Given the description of an element on the screen output the (x, y) to click on. 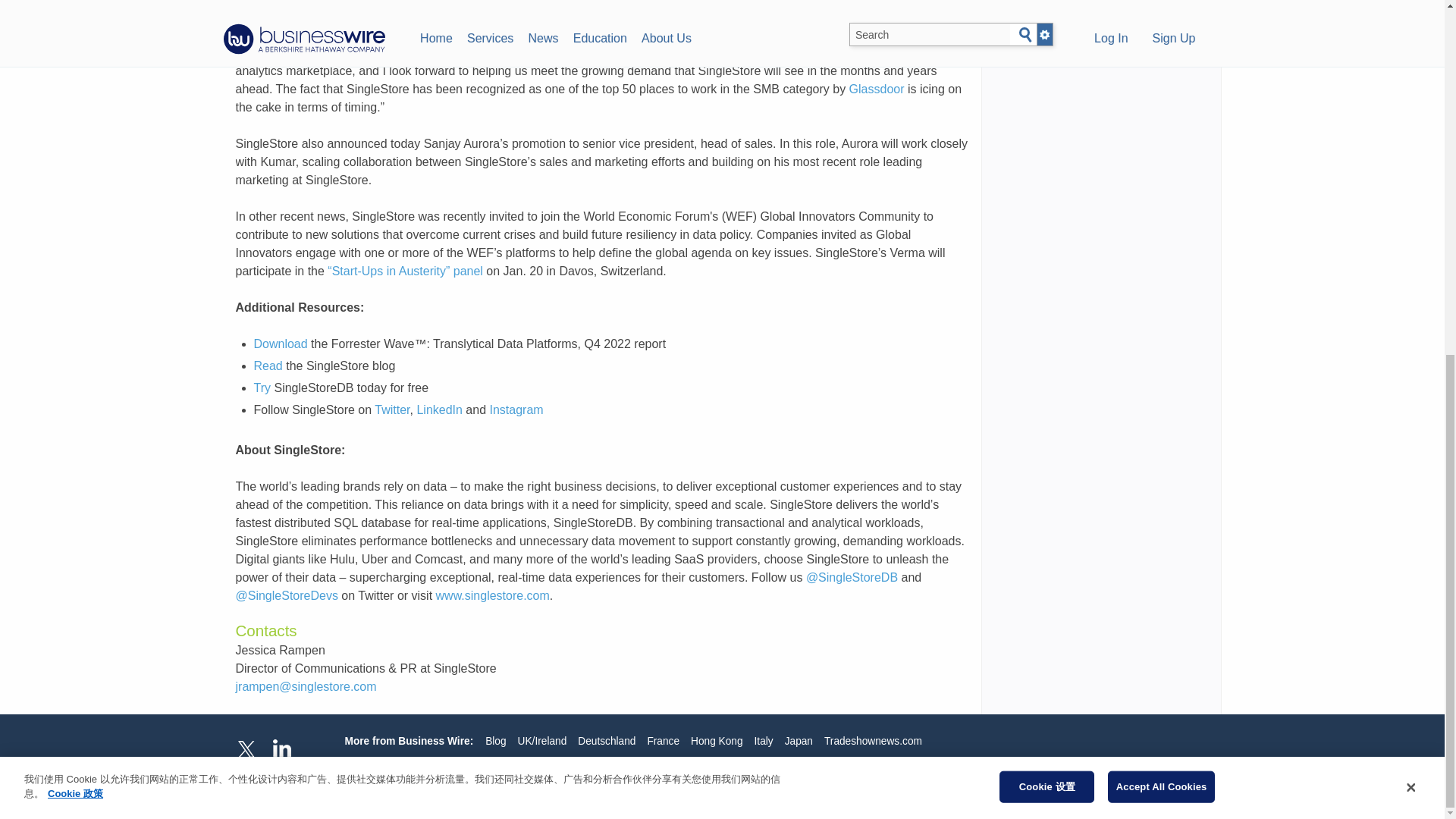
Twitter (391, 409)
Download (280, 343)
www.singlestore.com (492, 594)
Read (267, 365)
Instagram (516, 409)
Try (261, 387)
LinkedIn (438, 409)
Glassdoor (876, 88)
